Given the description of an element on the screen output the (x, y) to click on. 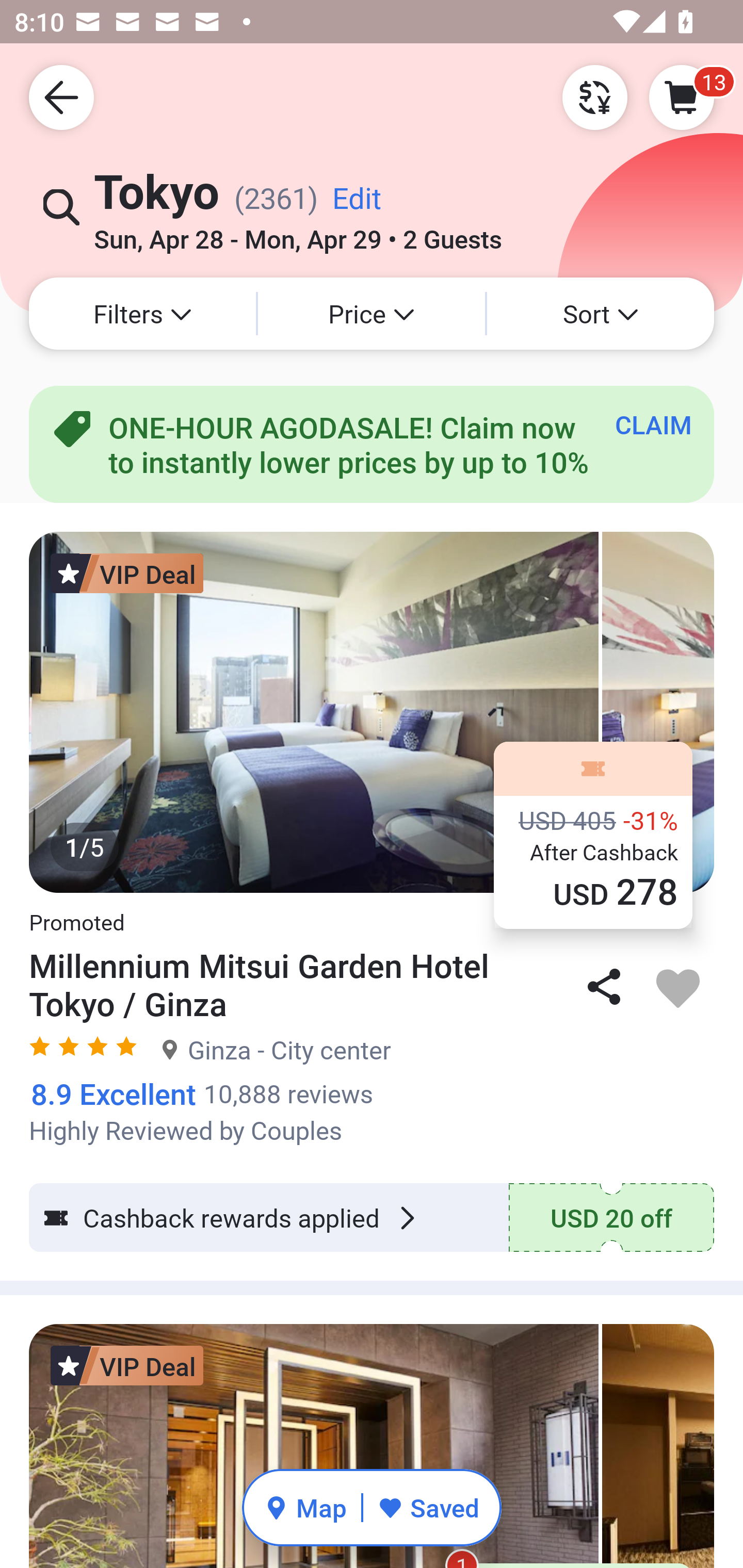
Filters (141, 313)
Price (371, 313)
Sort (600, 313)
CLAIM (653, 424)
VIP Deal (126, 572)
1/5 (371, 711)
‪USD 405 -31% After Cashback ‪USD 278 (593, 834)
Promoted (76, 911)
Cashback rewards applied USD 20 off (371, 1217)
VIP Deal (126, 1365)
Map (305, 1507)
Saved (428, 1507)
